Given the description of an element on the screen output the (x, y) to click on. 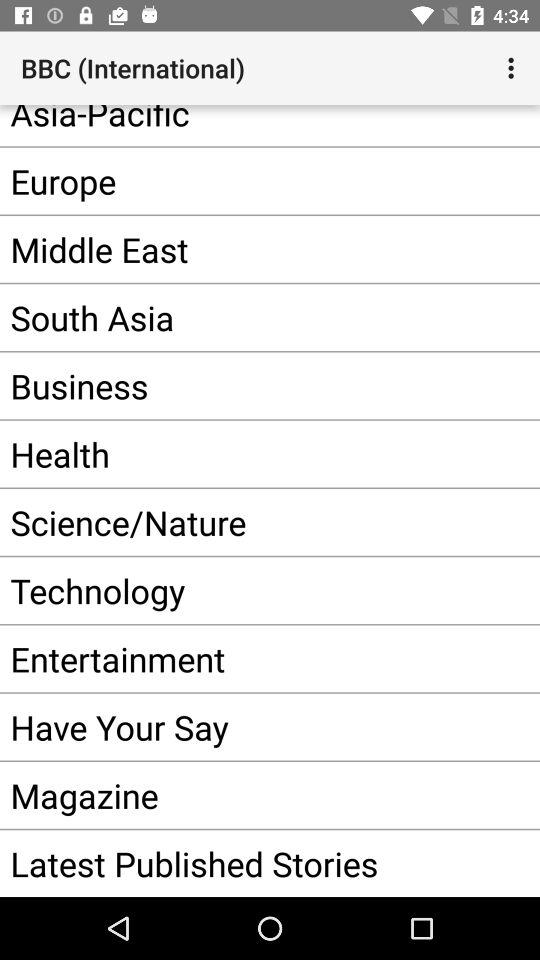
flip to the south asia app (240, 317)
